Given the description of an element on the screen output the (x, y) to click on. 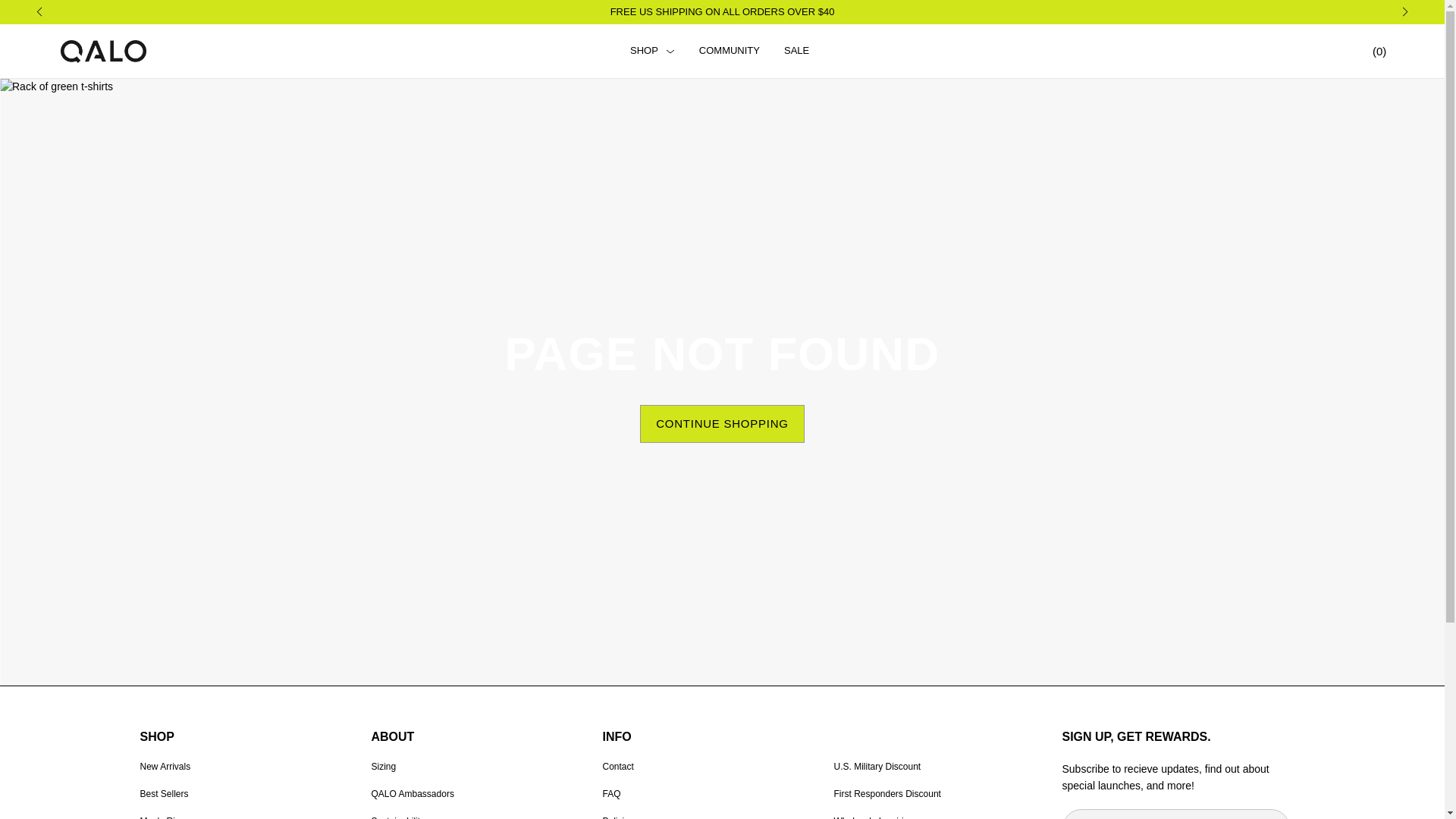
FAQ (611, 793)
Policies (617, 817)
COMMUNITY (729, 50)
Wholesale Inquiries (874, 817)
Sustainability (398, 817)
First Responders Discount (887, 793)
CONTINUE SHOPPING (721, 423)
Men's Rings (164, 817)
Sizing (383, 766)
SALE (796, 50)
SHOP (652, 50)
New Arrivals (164, 766)
U.S. Military Discount (877, 766)
QALO Ambassadors (412, 793)
Contact (617, 766)
